Given the description of an element on the screen output the (x, y) to click on. 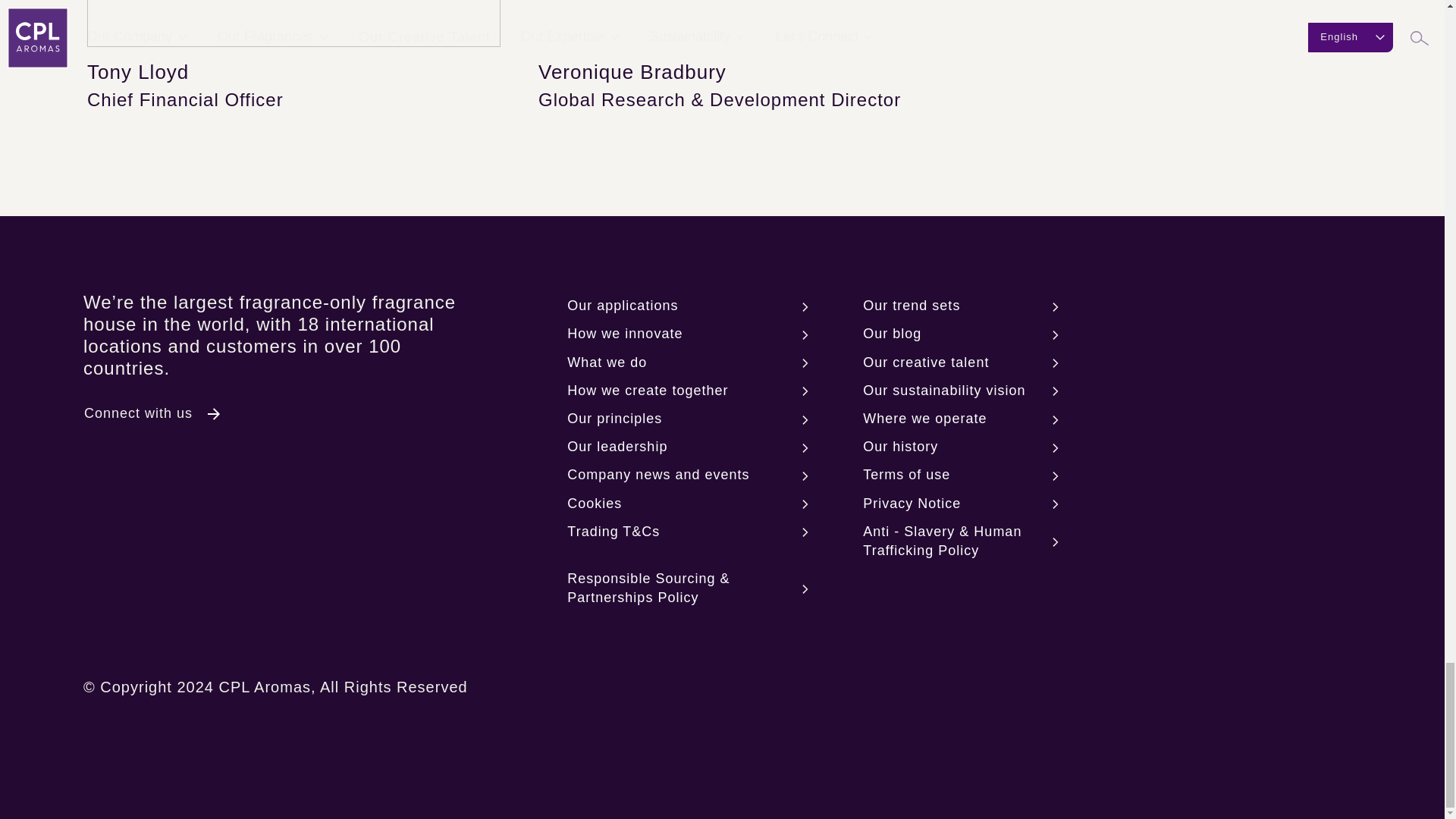
Connect with us (148, 413)
